Given the description of an element on the screen output the (x, y) to click on. 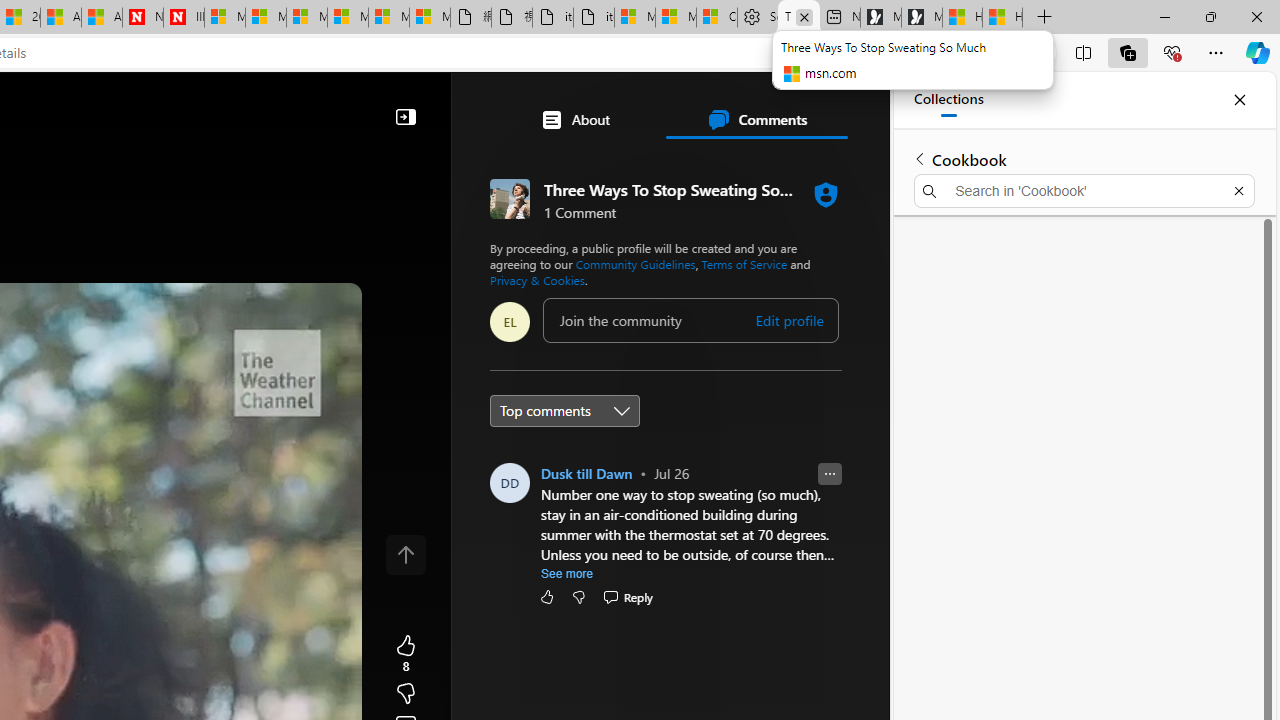
Community Guidelines (635, 264)
itconcepthk.com/projector_solutions.mp4 (593, 17)
Profile Picture (509, 482)
